Given the description of an element on the screen output the (x, y) to click on. 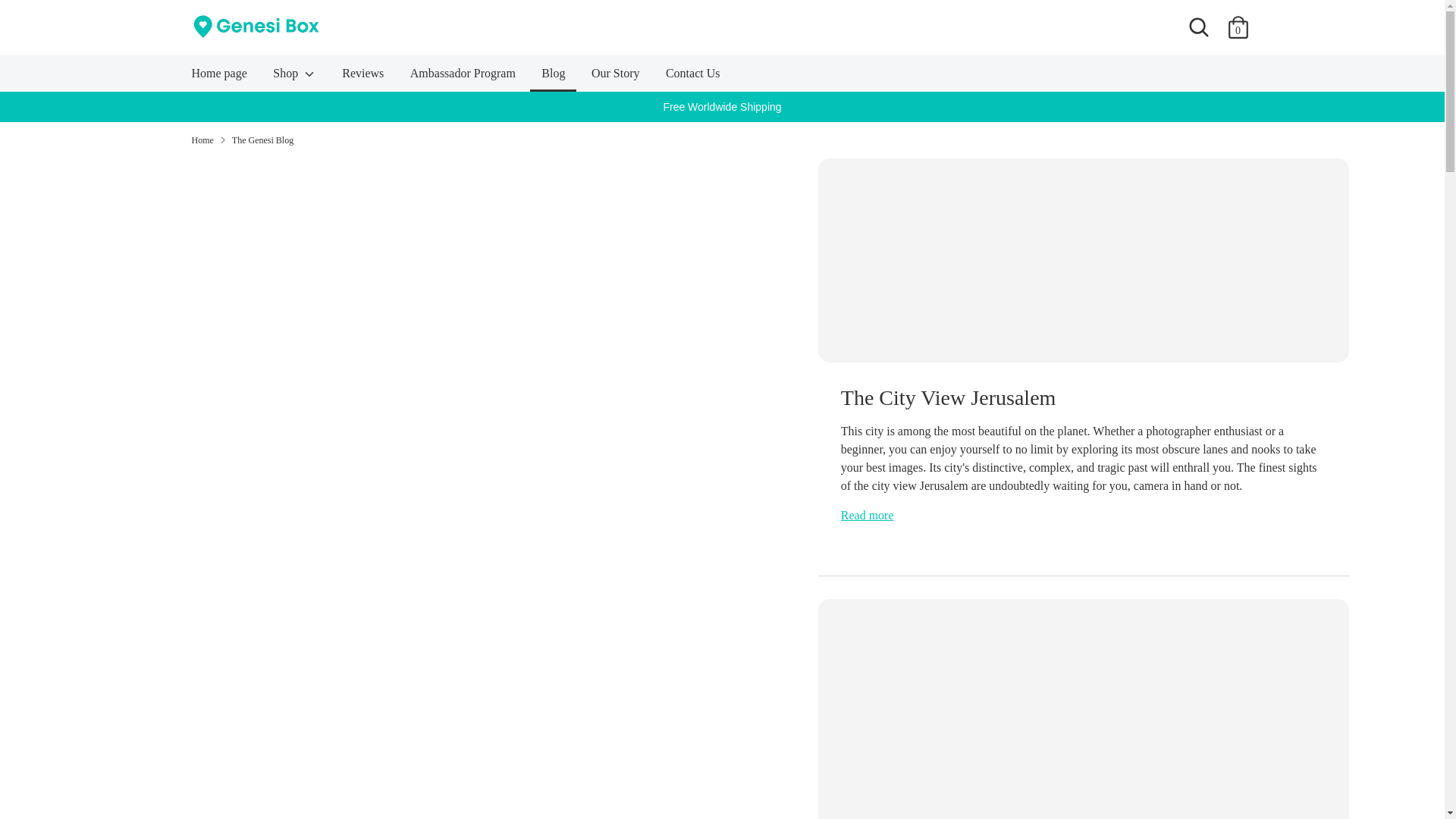
Home page (219, 76)
Our Story (614, 76)
Search (1197, 27)
Ambassador Program (462, 76)
Reviews (362, 76)
Shop (294, 76)
Contact Us (692, 76)
Blog (552, 76)
0 (1237, 27)
